Given the description of an element on the screen output the (x, y) to click on. 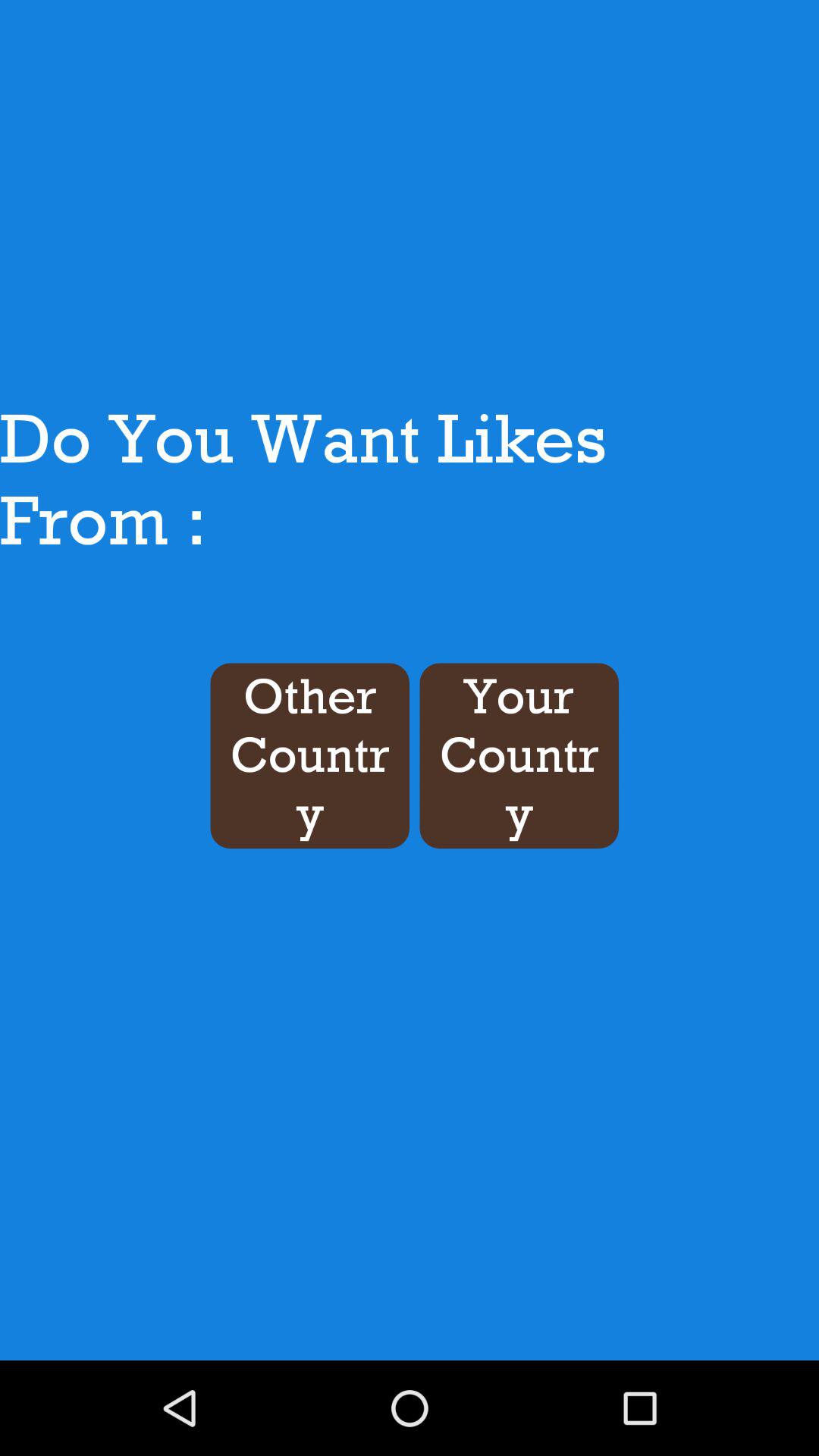
select icon to the right of other country icon (518, 755)
